Given the description of an element on the screen output the (x, y) to click on. 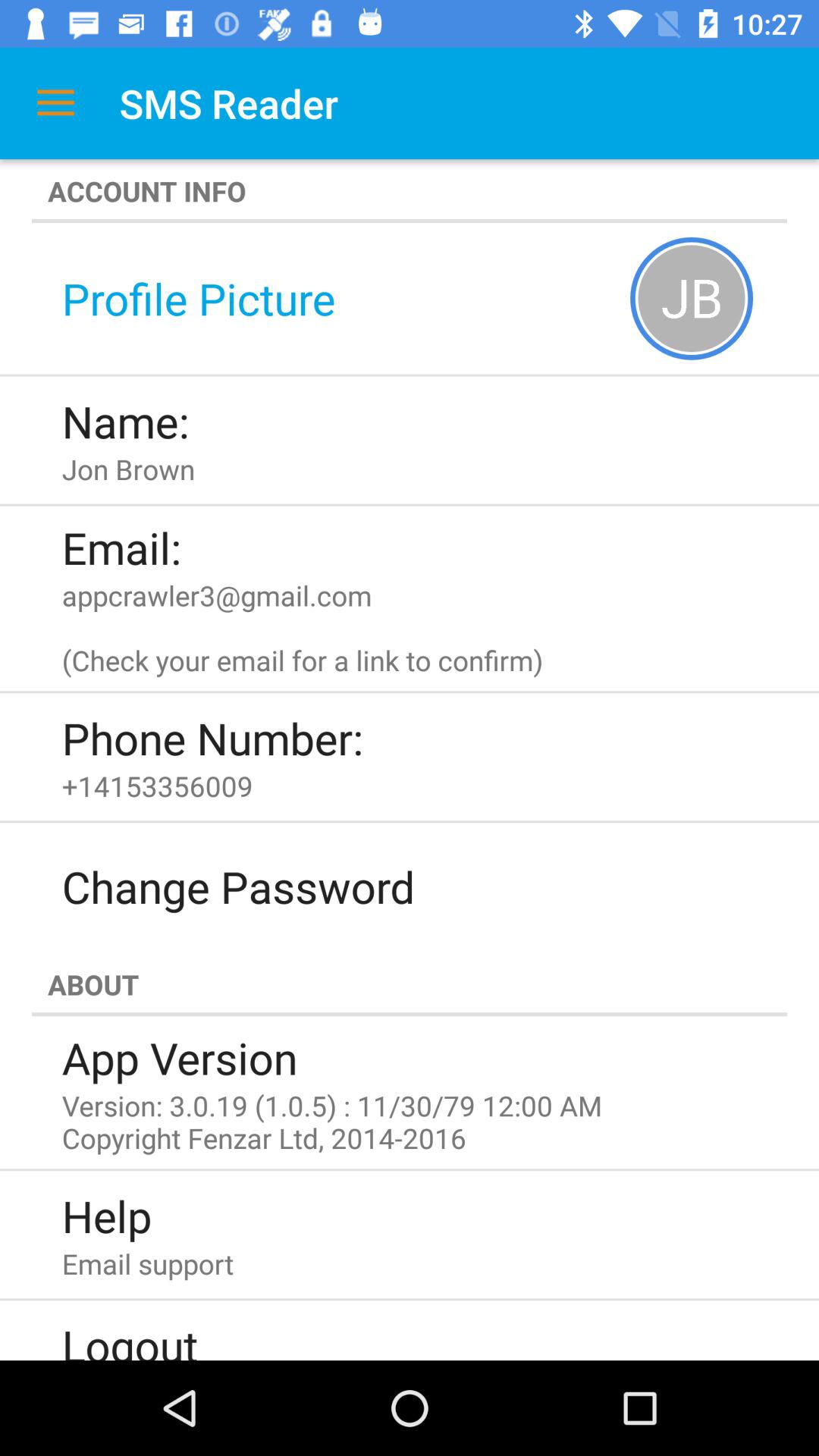
open app next to the sms reader item (55, 103)
